Given the description of an element on the screen output the (x, y) to click on. 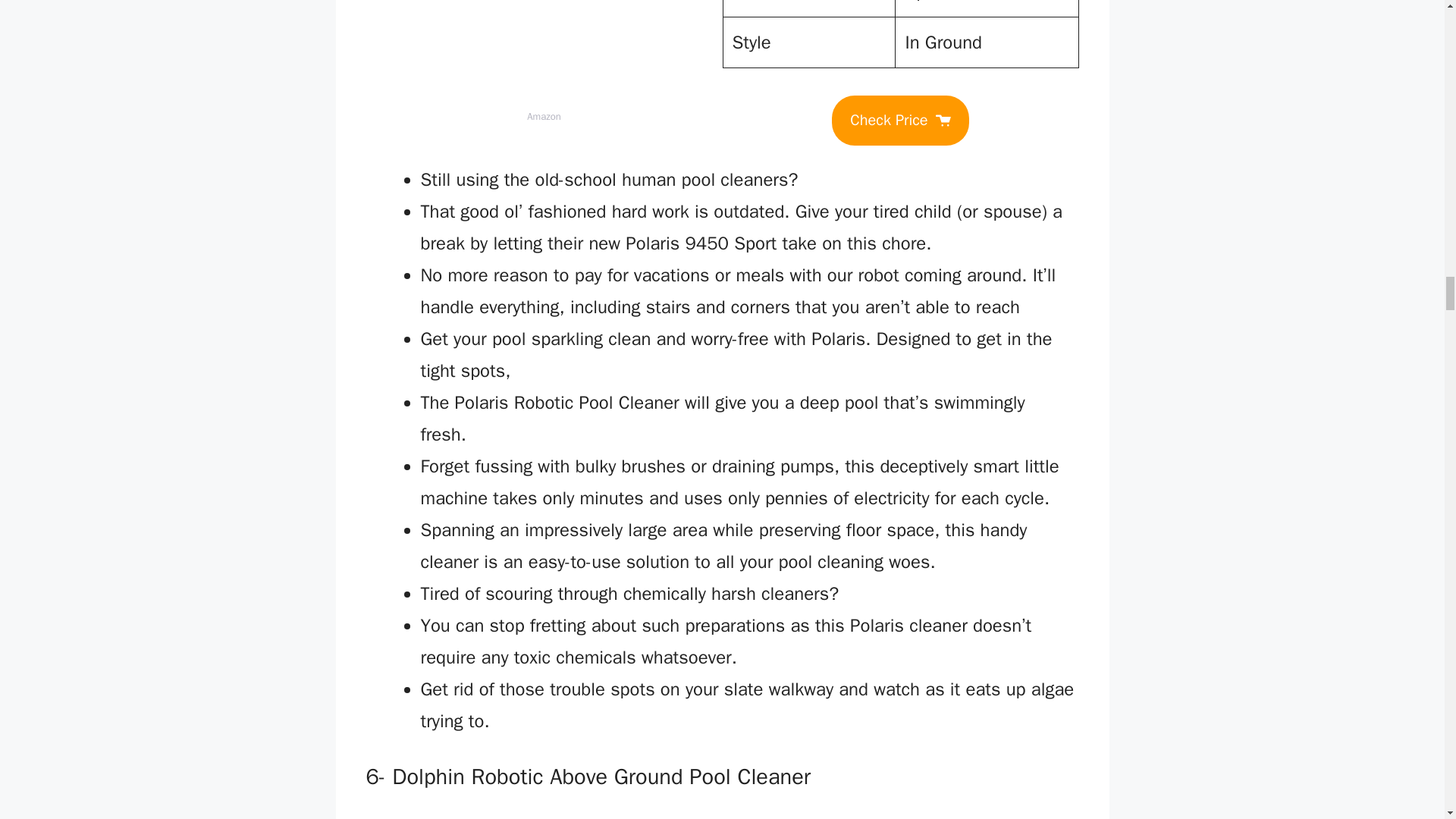
Check Price (899, 120)
